Given the description of an element on the screen output the (x, y) to click on. 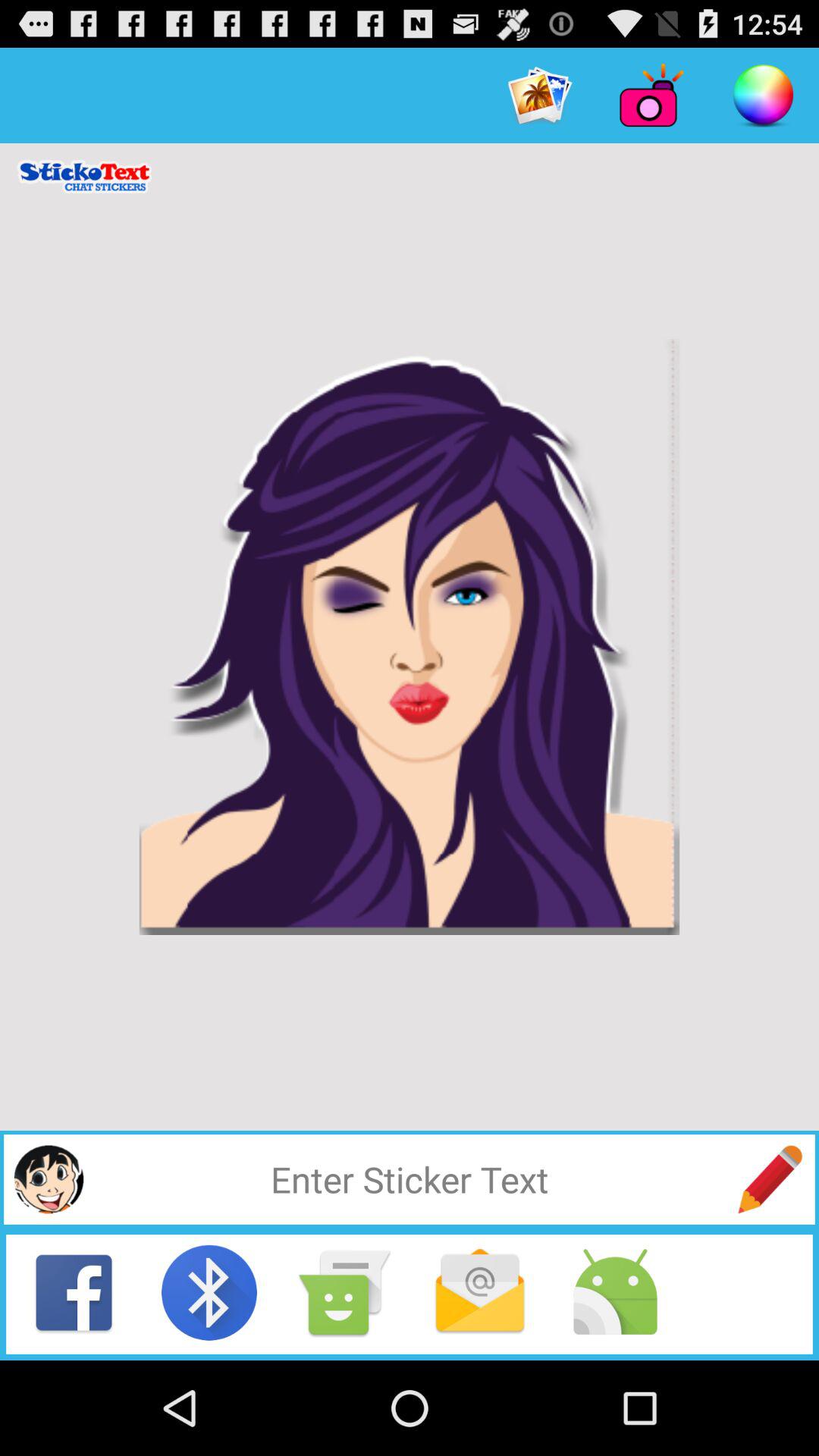
go to emojis (48, 1179)
